Given the description of an element on the screen output the (x, y) to click on. 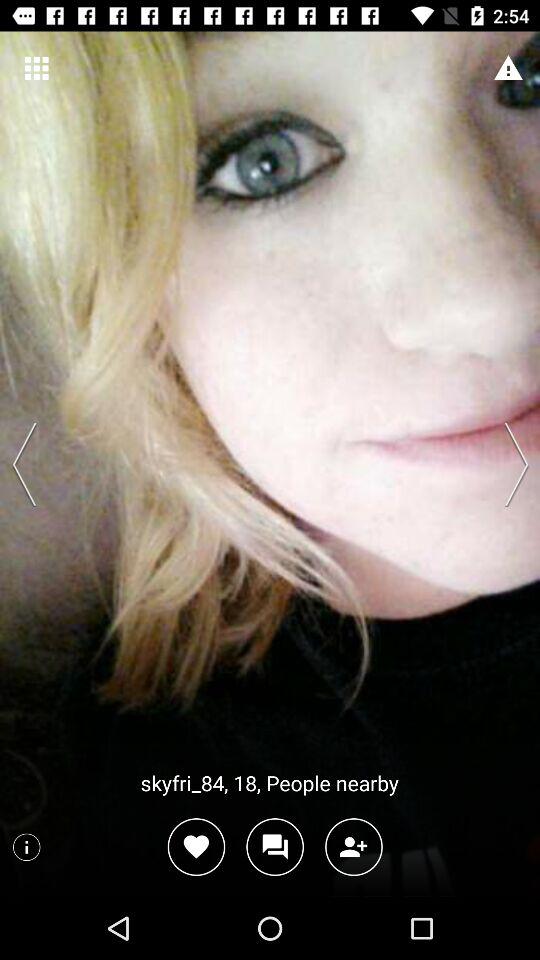
view information (26, 847)
